Given the description of an element on the screen output the (x, y) to click on. 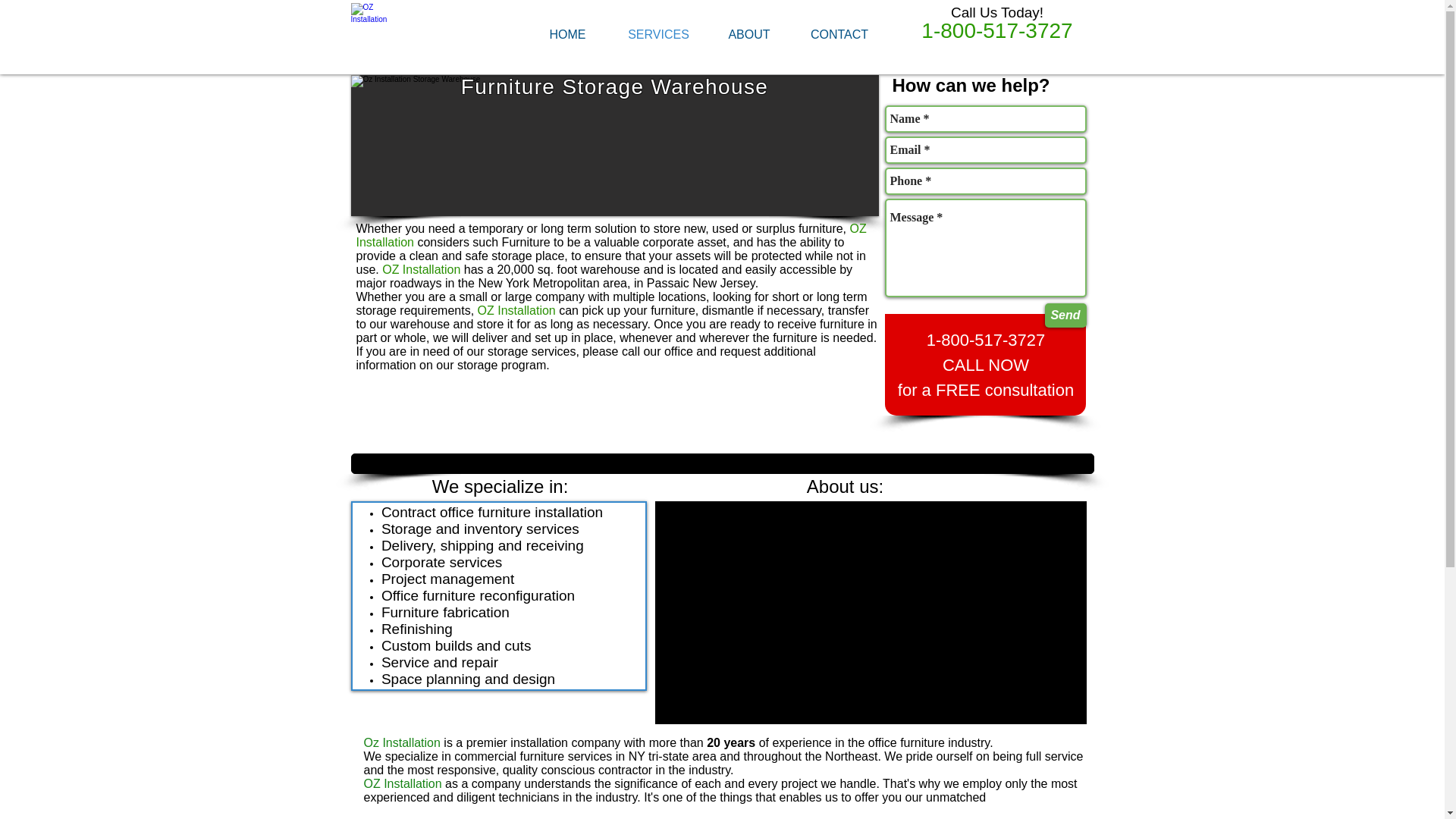
External YouTube (870, 612)
HOME (566, 34)
SERVICES (657, 34)
OZ Installation (373, 25)
Send (1065, 315)
CONTACT (839, 34)
ABOUT (748, 34)
